Given the description of an element on the screen output the (x, y) to click on. 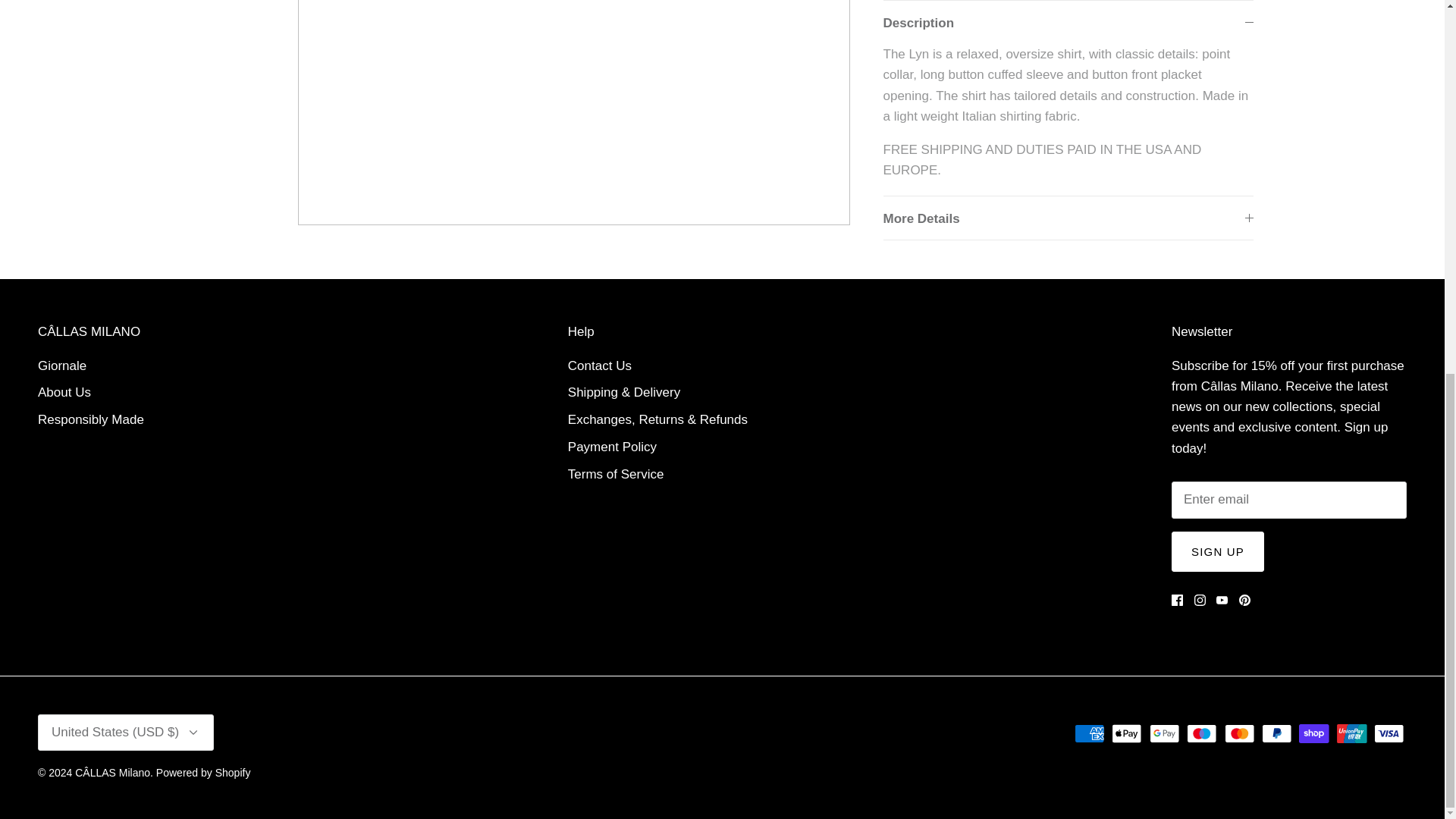
Facebook (1177, 600)
Maestro (1201, 732)
Pinterest (1244, 600)
Google Pay (1164, 732)
Youtube (1221, 600)
Mastercard (1239, 732)
Union Pay (1351, 732)
Shop Pay (1313, 732)
Visa (1388, 732)
Apple Pay (1126, 732)
